Given the description of an element on the screen output the (x, y) to click on. 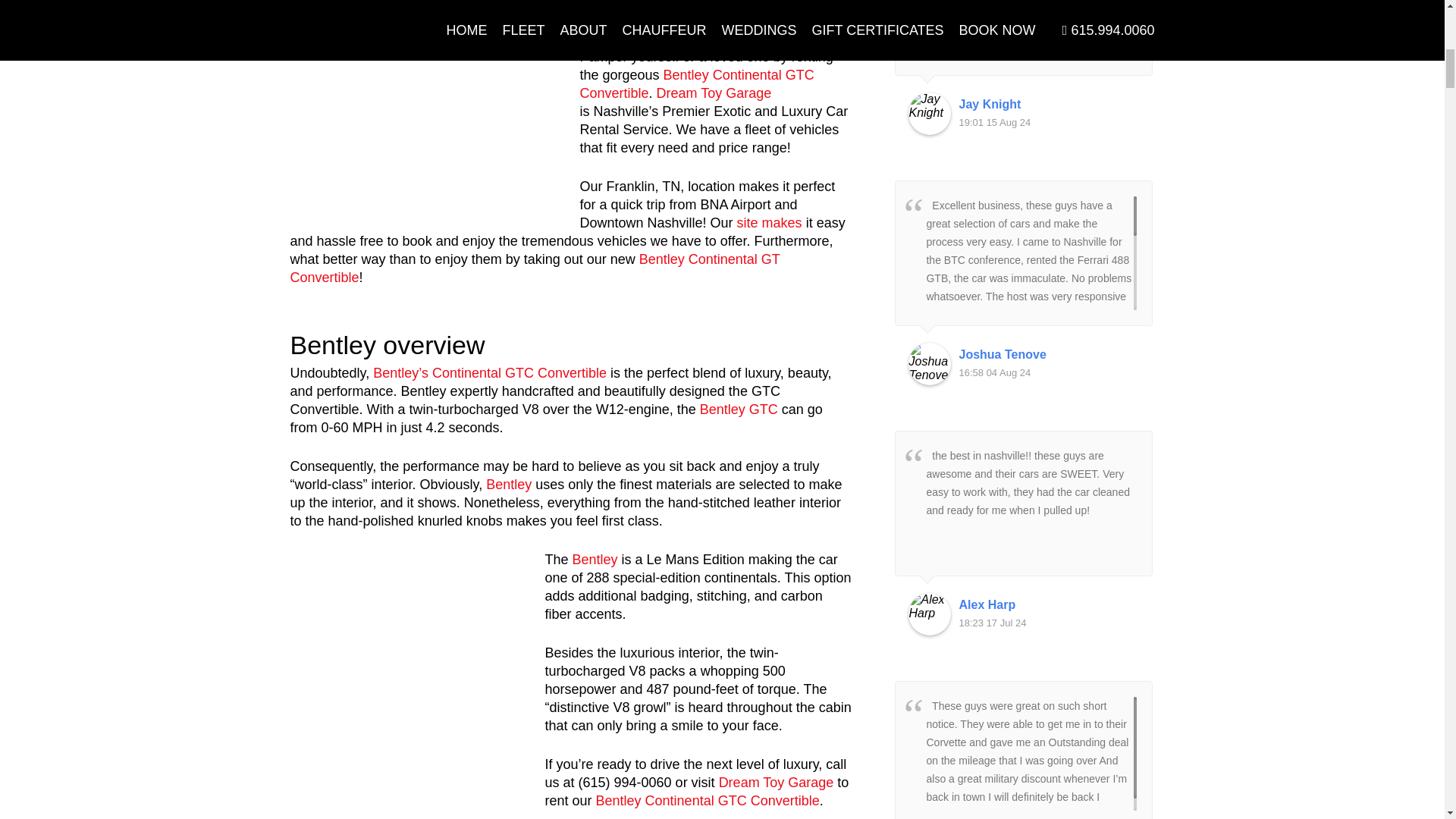
Joshua Tenove (1048, 354)
Bentley Continental GTC Convertible (719, 17)
Bentley GTC (738, 409)
Alex Harp (929, 613)
Dream Toy Garage (776, 782)
Joshua Tenove (929, 363)
Bentley (508, 484)
Jay Knight (1048, 104)
Bentley Continental GTC Convertible (696, 83)
Bentley Continental GT Convertible (533, 268)
